Given the description of an element on the screen output the (x, y) to click on. 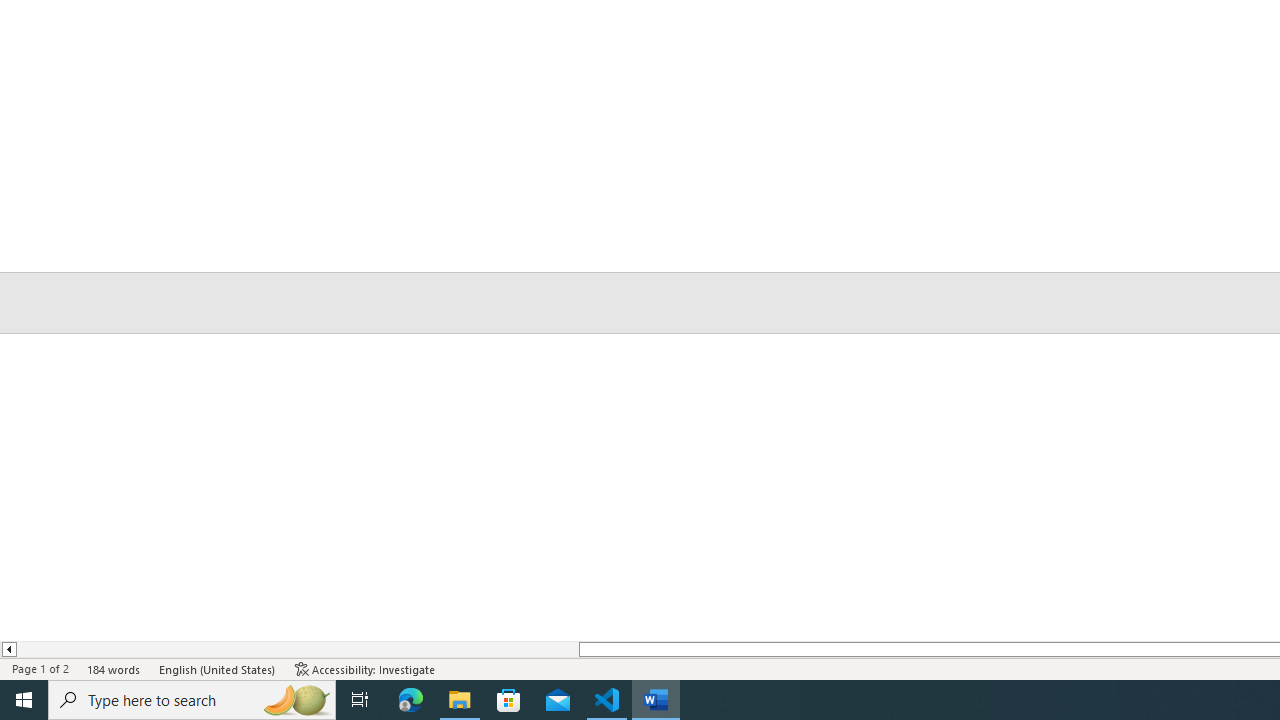
Column left (8, 649)
Page left (297, 649)
Page Number Page 1 of 2 (39, 668)
